Given the description of an element on the screen output the (x, y) to click on. 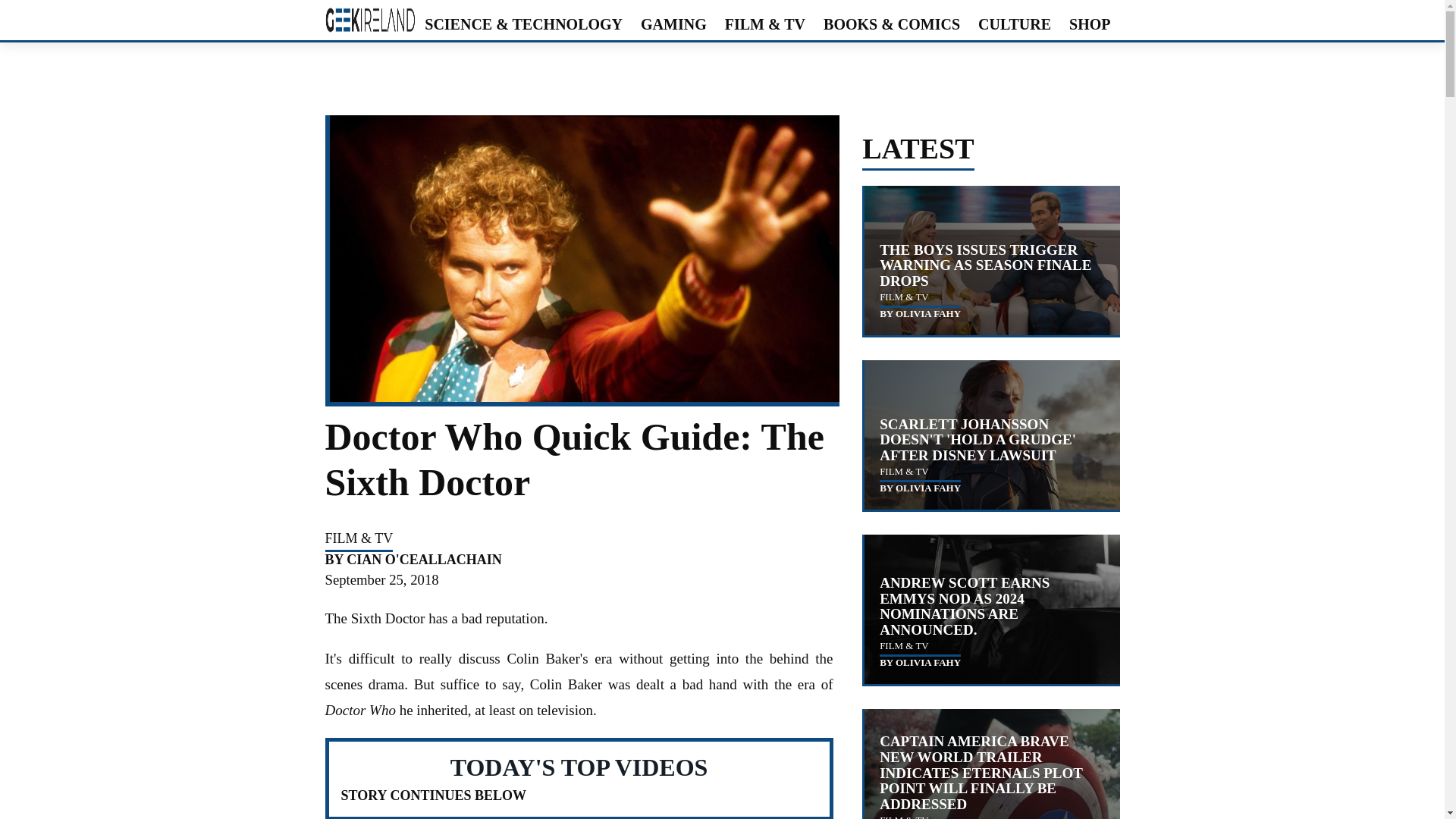
BY CIAN O'CEALLACHAIN (412, 560)
GAMING (673, 23)
CULTURE (1014, 23)
THE BOYS ISSUES TRIGGER WARNING AS SEASON FINALE DROPS (984, 265)
SHOP (1089, 23)
